Given the description of an element on the screen output the (x, y) to click on. 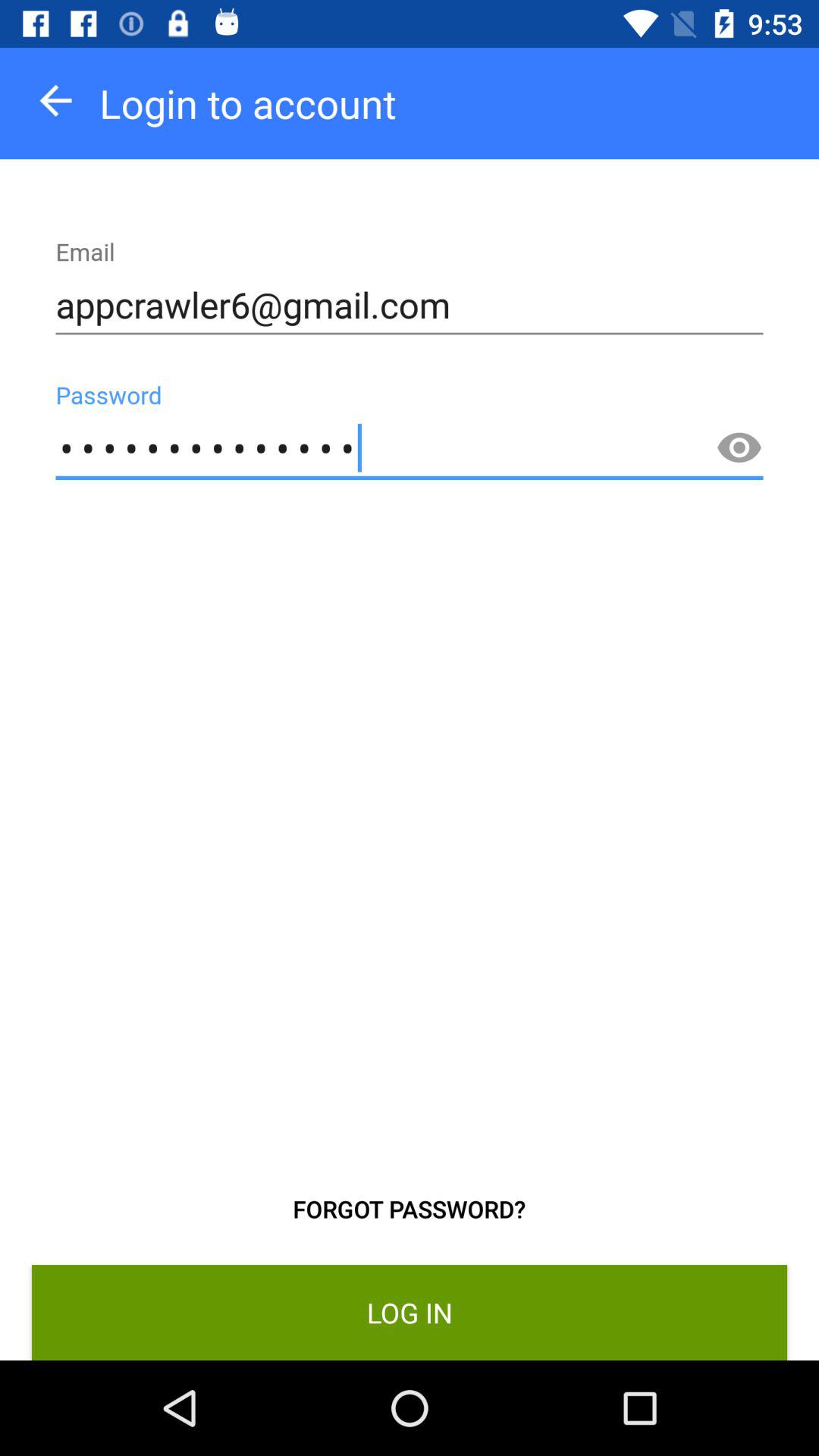
turn on item at the top right corner (739, 448)
